Given the description of an element on the screen output the (x, y) to click on. 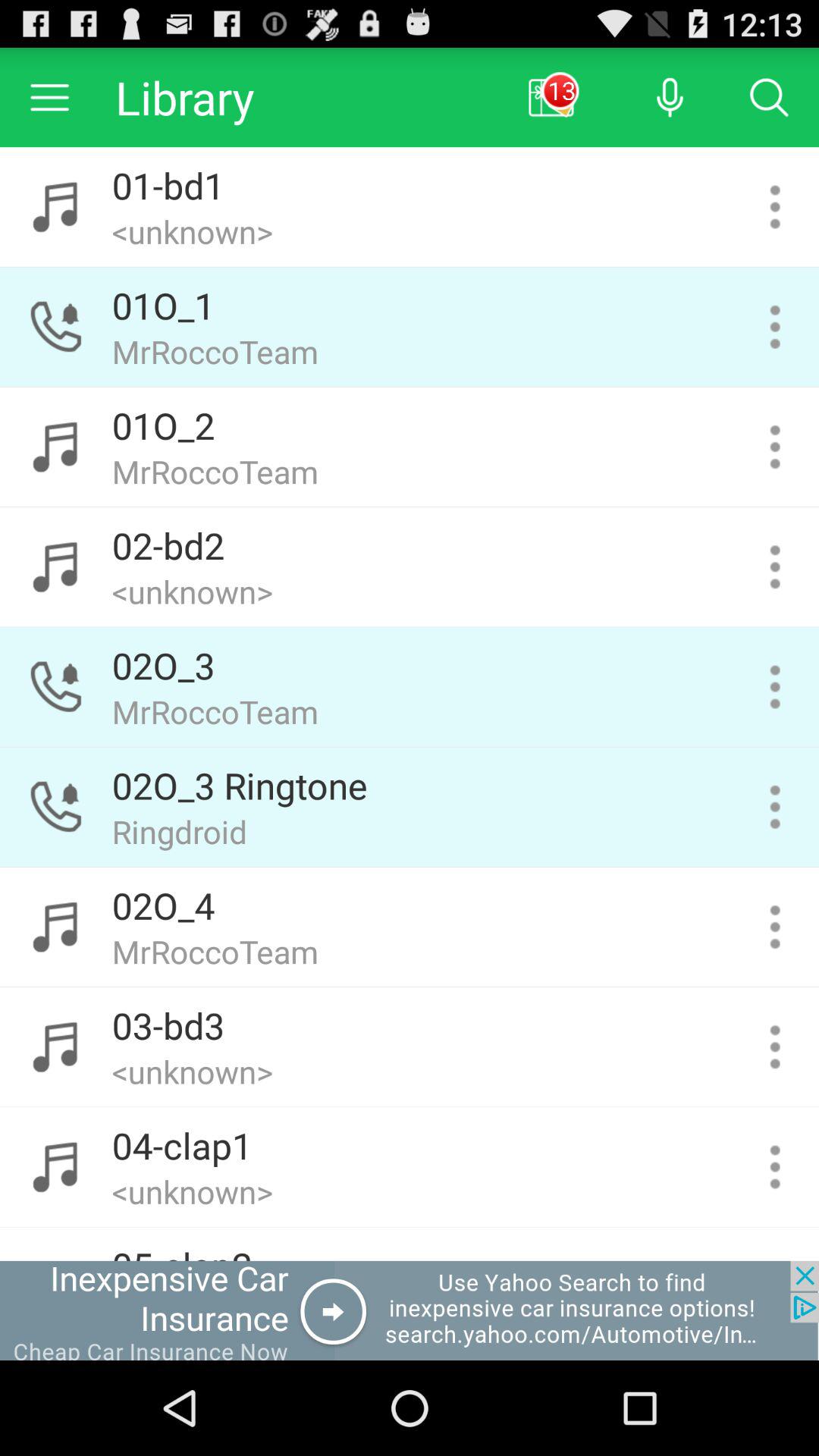
tone menu (775, 206)
